Given the description of an element on the screen output the (x, y) to click on. 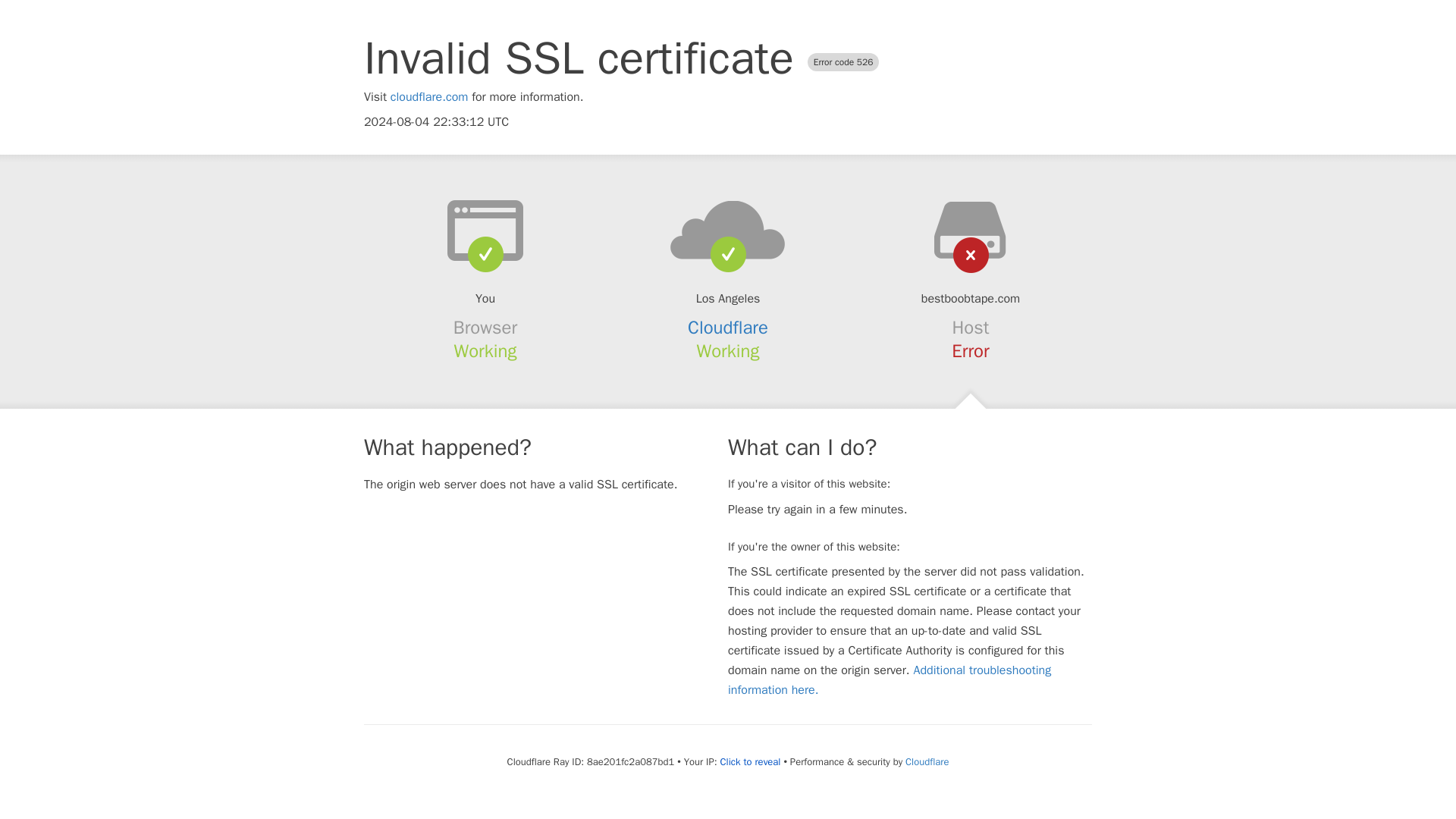
Additional troubleshooting information here. (889, 679)
Cloudflare (927, 761)
Click to reveal (750, 762)
Cloudflare (727, 327)
cloudflare.com (429, 96)
